Given the description of an element on the screen output the (x, y) to click on. 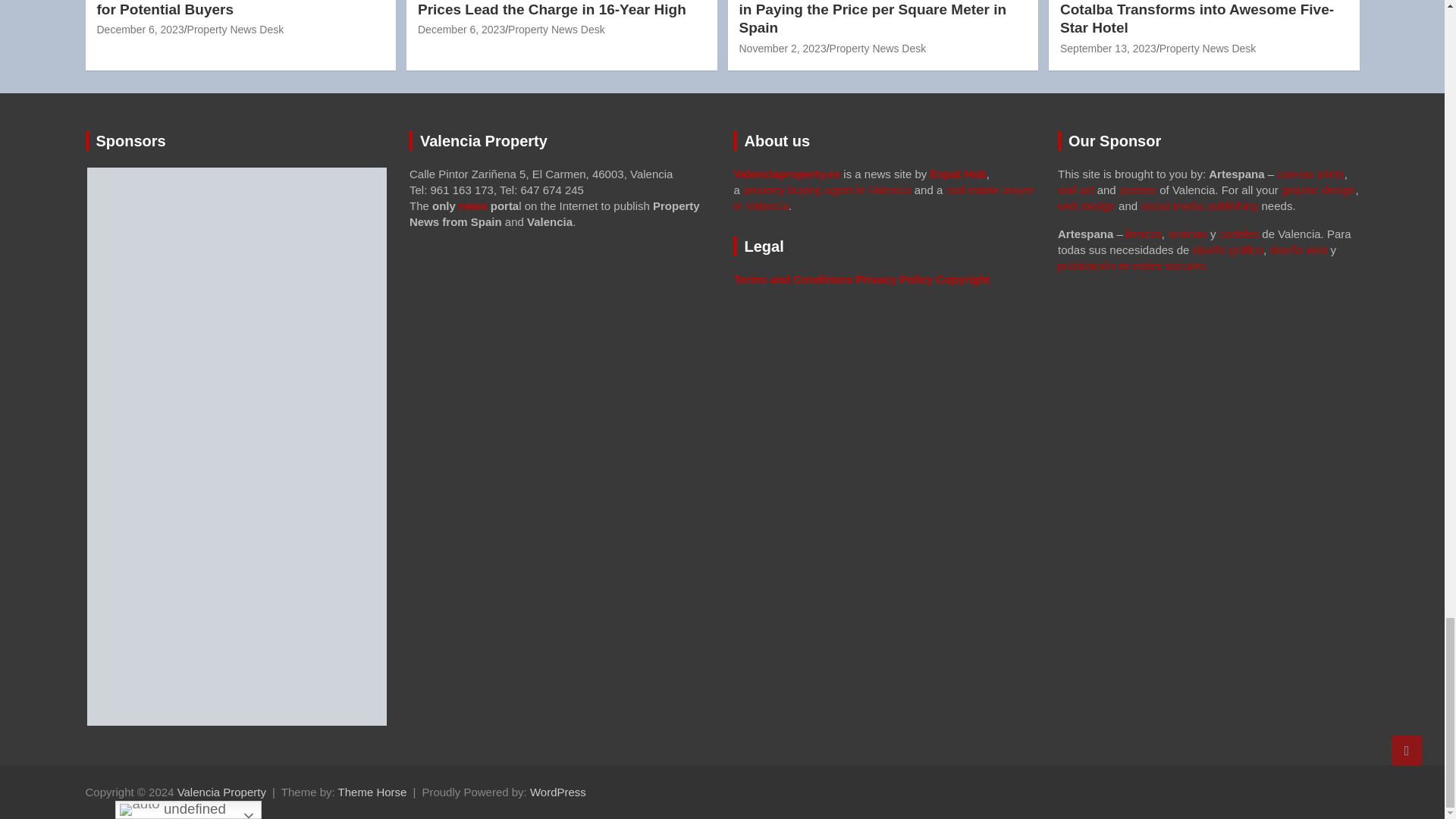
Valencia Property (221, 791)
